Given the description of an element on the screen output the (x, y) to click on. 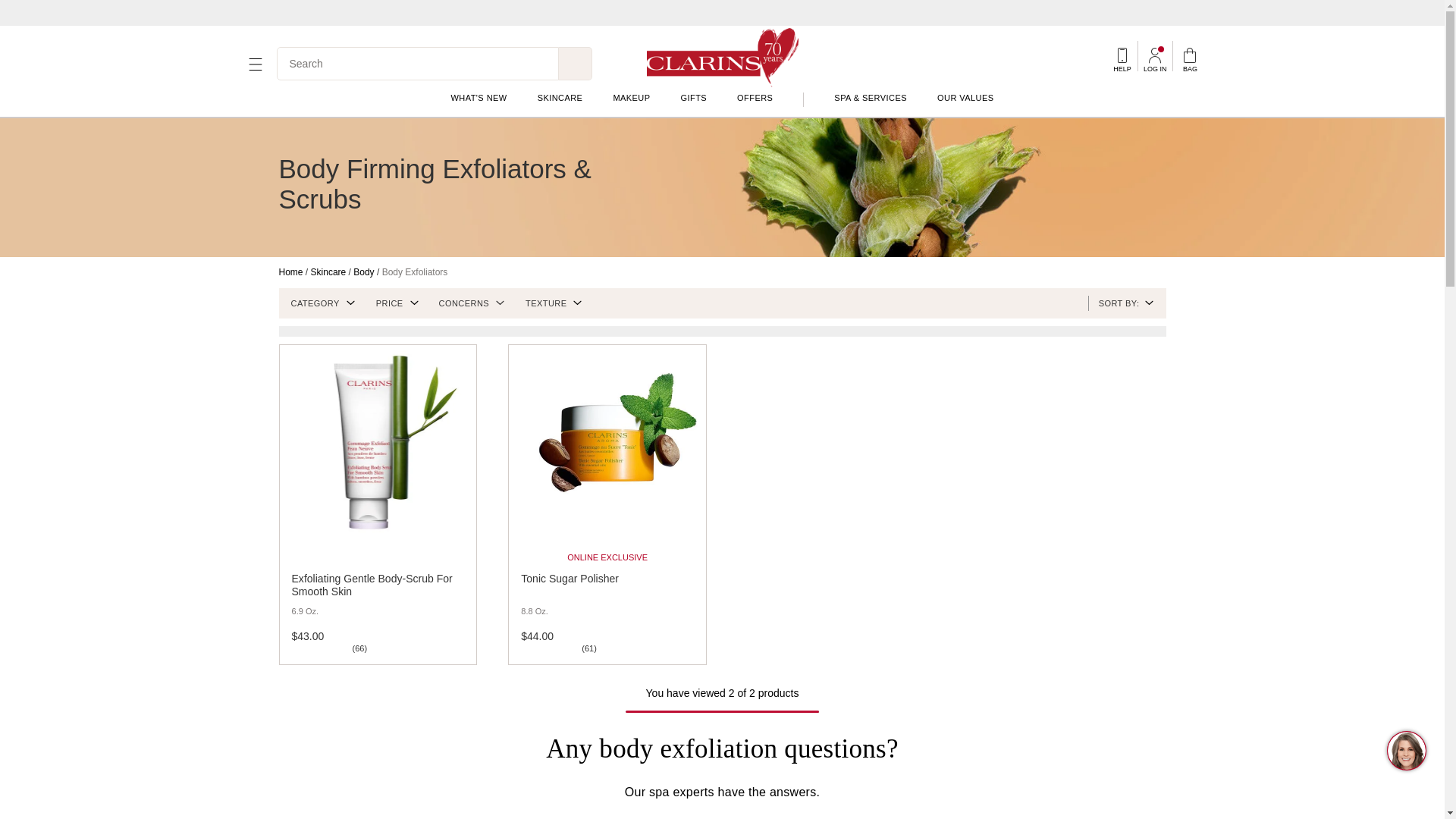
SKINCARE (560, 97)
WHAT'S NEW (477, 97)
Home (290, 271)
Menu (254, 63)
Skincare (328, 271)
Clarins Home (722, 56)
Body (363, 271)
